Given the description of an element on the screen output the (x, y) to click on. 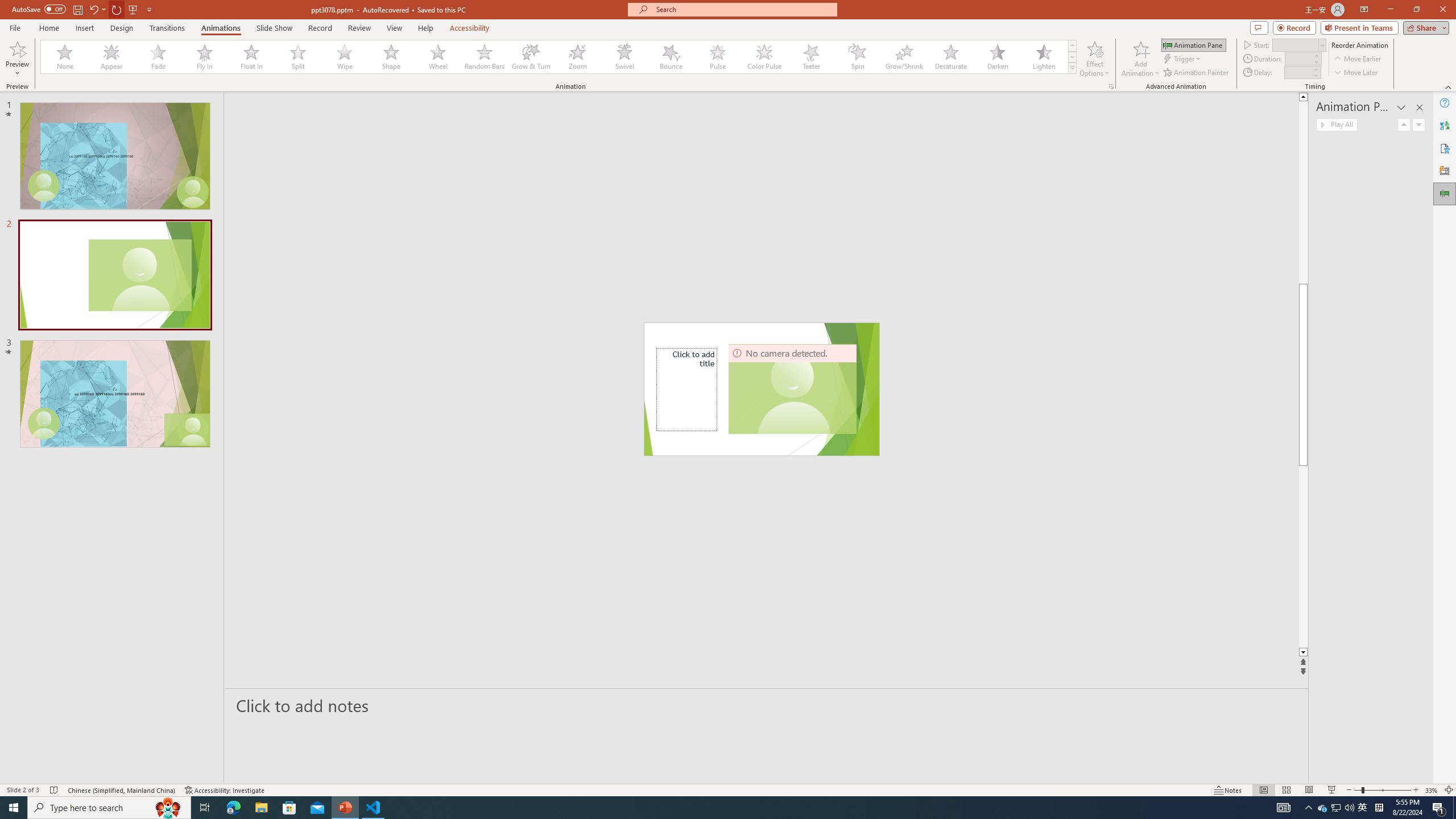
Wheel (437, 56)
Move Down (1418, 124)
Animation Pane (1193, 44)
Grow/Shrink (903, 56)
Appear (111, 56)
Spin (857, 56)
